Given the description of an element on the screen output the (x, y) to click on. 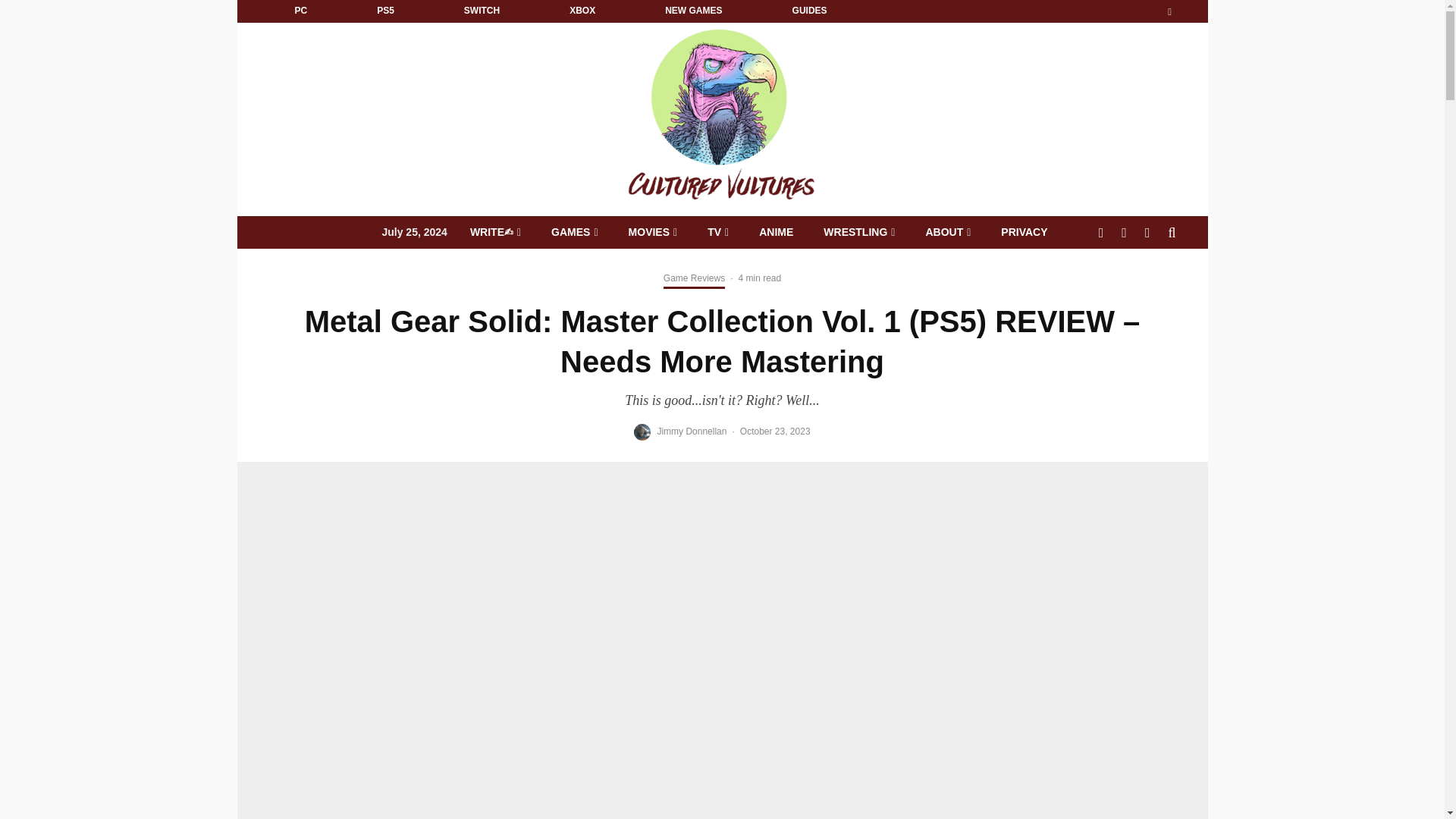
Switch News (481, 11)
PS5 (385, 11)
SWITCH (481, 11)
New Games Coming Out (693, 11)
PS5 News (385, 11)
PC (300, 11)
GAMES (573, 232)
NEW GAMES (693, 11)
GUIDES (809, 11)
XBOX (582, 11)
Video Game Guides (809, 11)
